Given the description of an element on the screen output the (x, y) to click on. 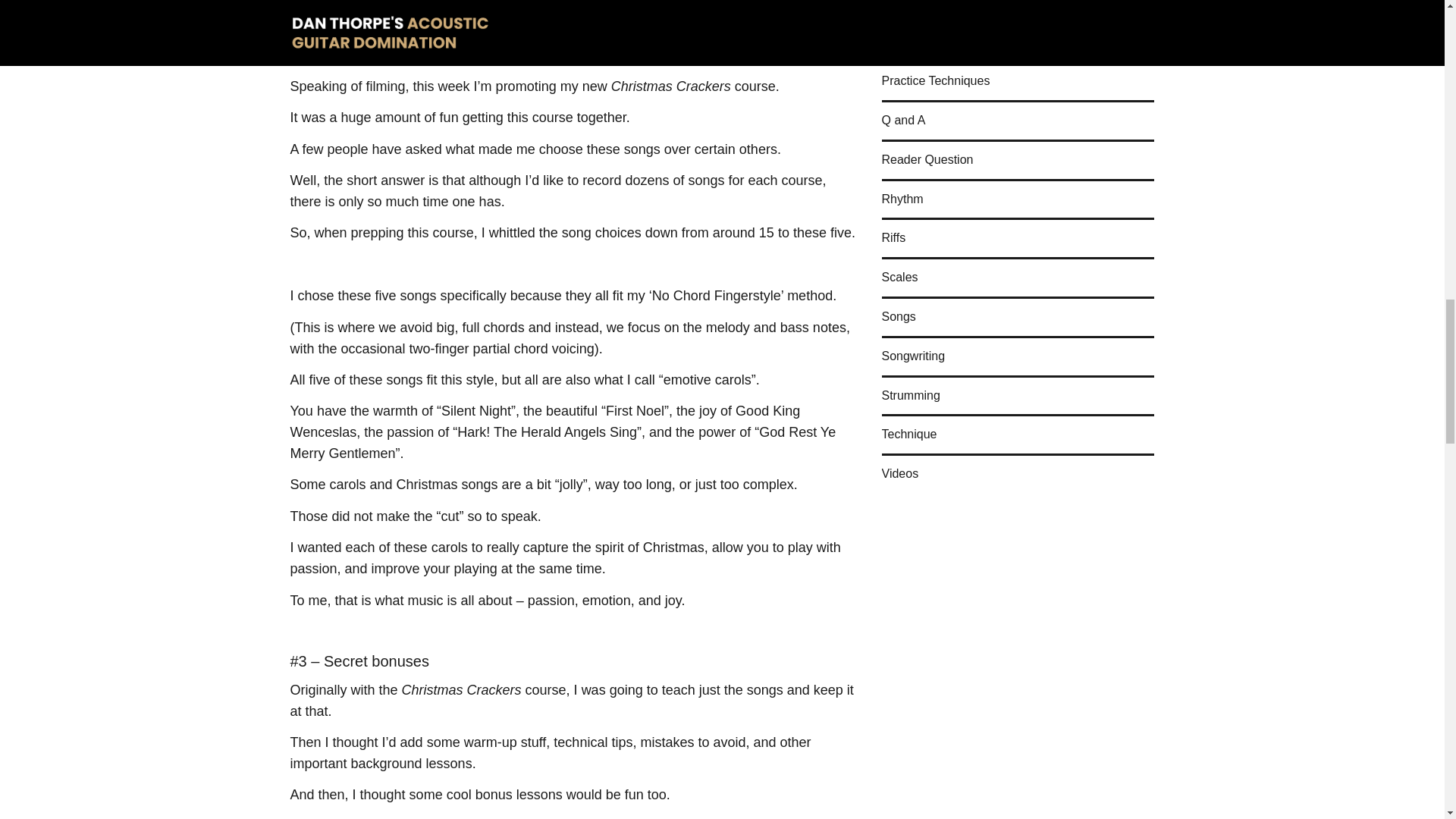
Q and A (902, 120)
Scales (898, 277)
Songs (897, 316)
Practice Techniques (935, 81)
Podcast (902, 11)
Videos (899, 469)
Rhythm (901, 199)
Reader Question (926, 160)
Strumming (909, 395)
Practice (902, 41)
